Given the description of an element on the screen output the (x, y) to click on. 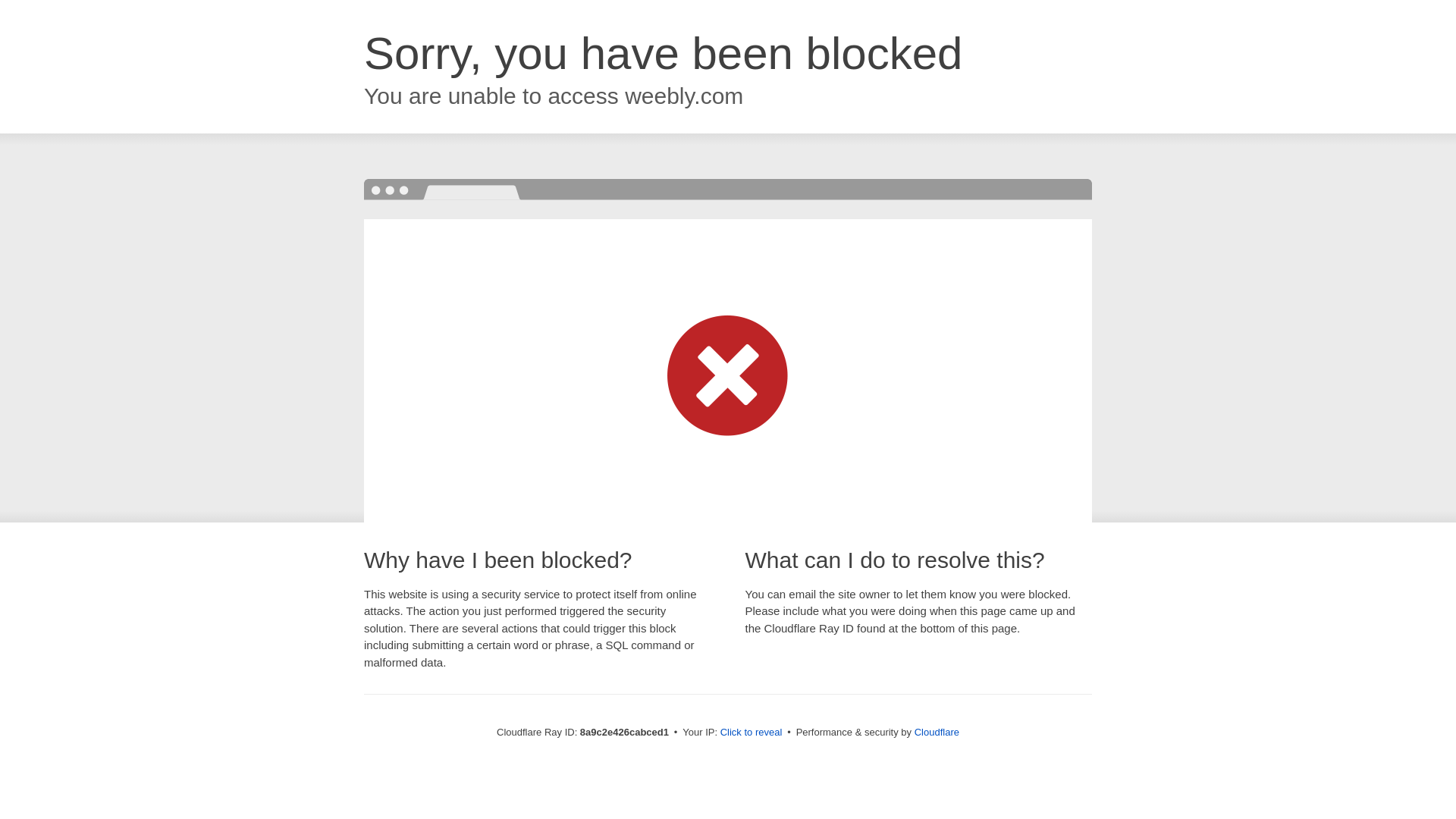
Click to reveal (751, 732)
Cloudflare (936, 731)
